Given the description of an element on the screen output the (x, y) to click on. 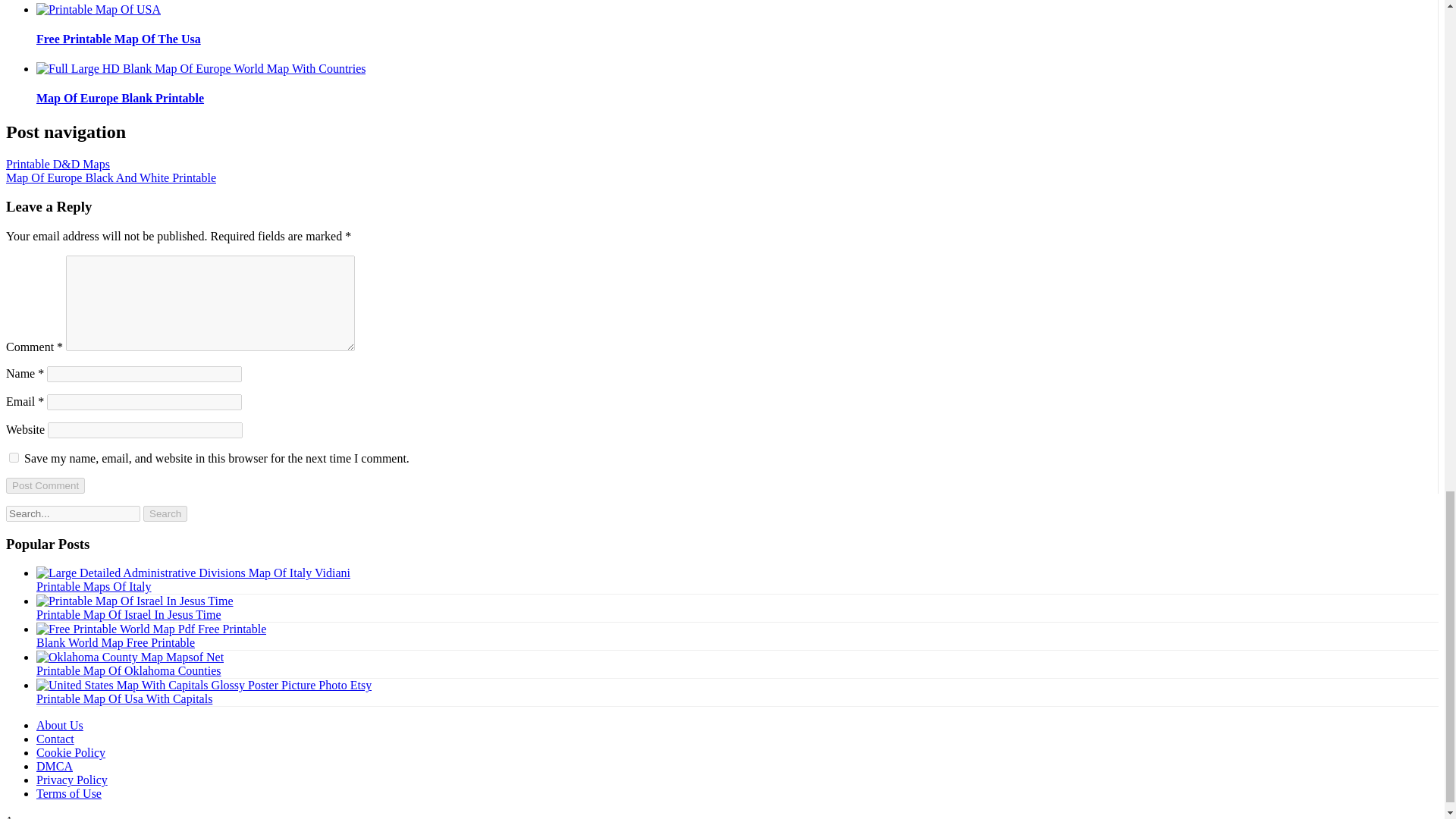
Search (164, 513)
Search (164, 513)
Free Printable Map Of The Usa (118, 38)
yes (13, 457)
Post Comment (44, 485)
